Given the description of an element on the screen output the (x, y) to click on. 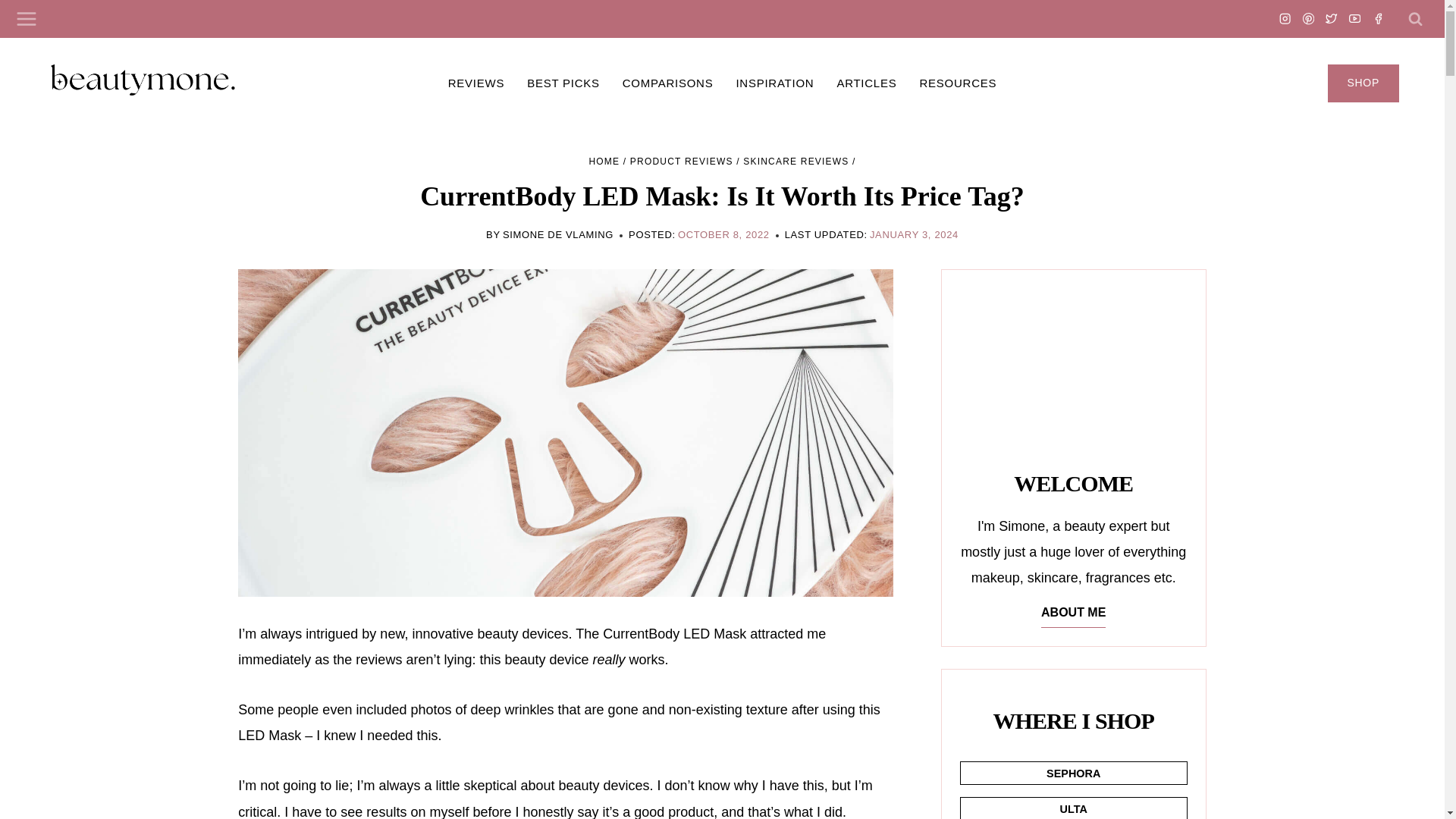
BEST PICKS (563, 83)
ARTICLES (866, 83)
INSPIRATION (774, 83)
COMPARISONS (668, 83)
REVIEWS (475, 83)
RESOURCES (957, 83)
